Given the description of an element on the screen output the (x, y) to click on. 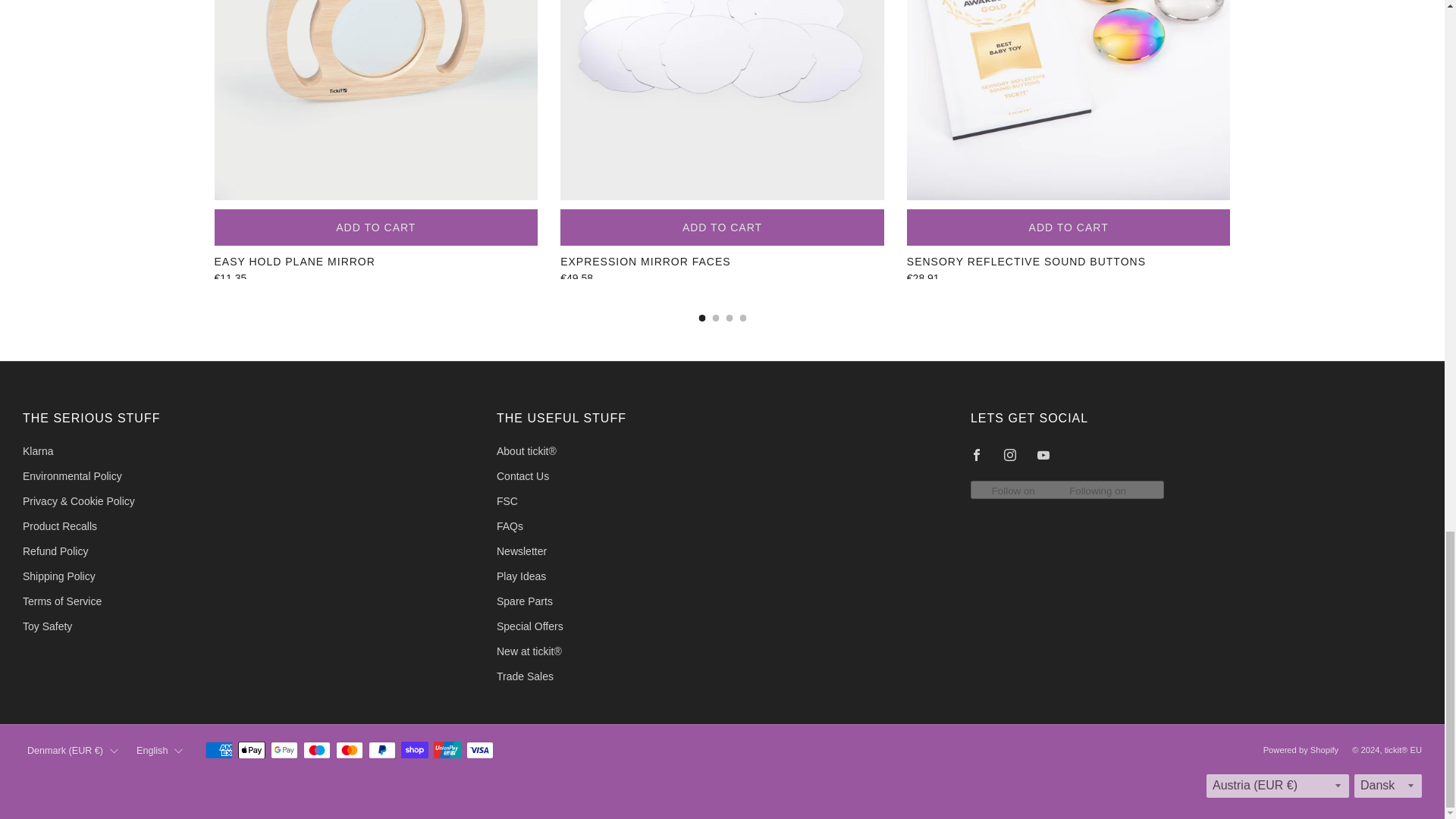
Easy Hold Plane Mirror (375, 261)
Expression Mirror Faces (721, 261)
Sensory Reflective Sound Buttons (1068, 261)
Sensory Reflective Sound Buttons (1068, 277)
Expression Mirror Faces (721, 277)
Easy Hold Plane Mirror (375, 277)
